Given the description of an element on the screen output the (x, y) to click on. 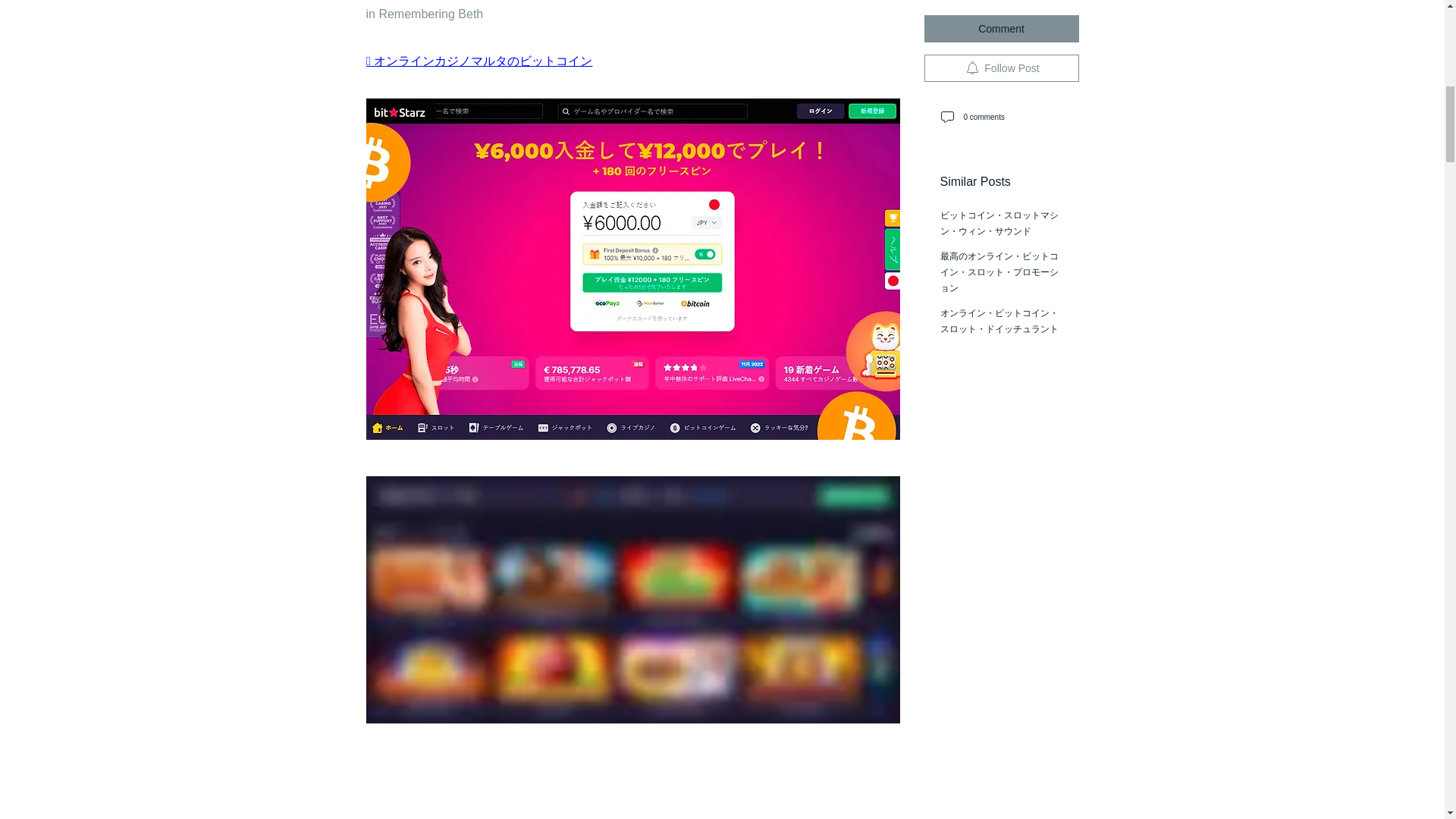
in Remembering Beth (424, 13)
